Given the description of an element on the screen output the (x, y) to click on. 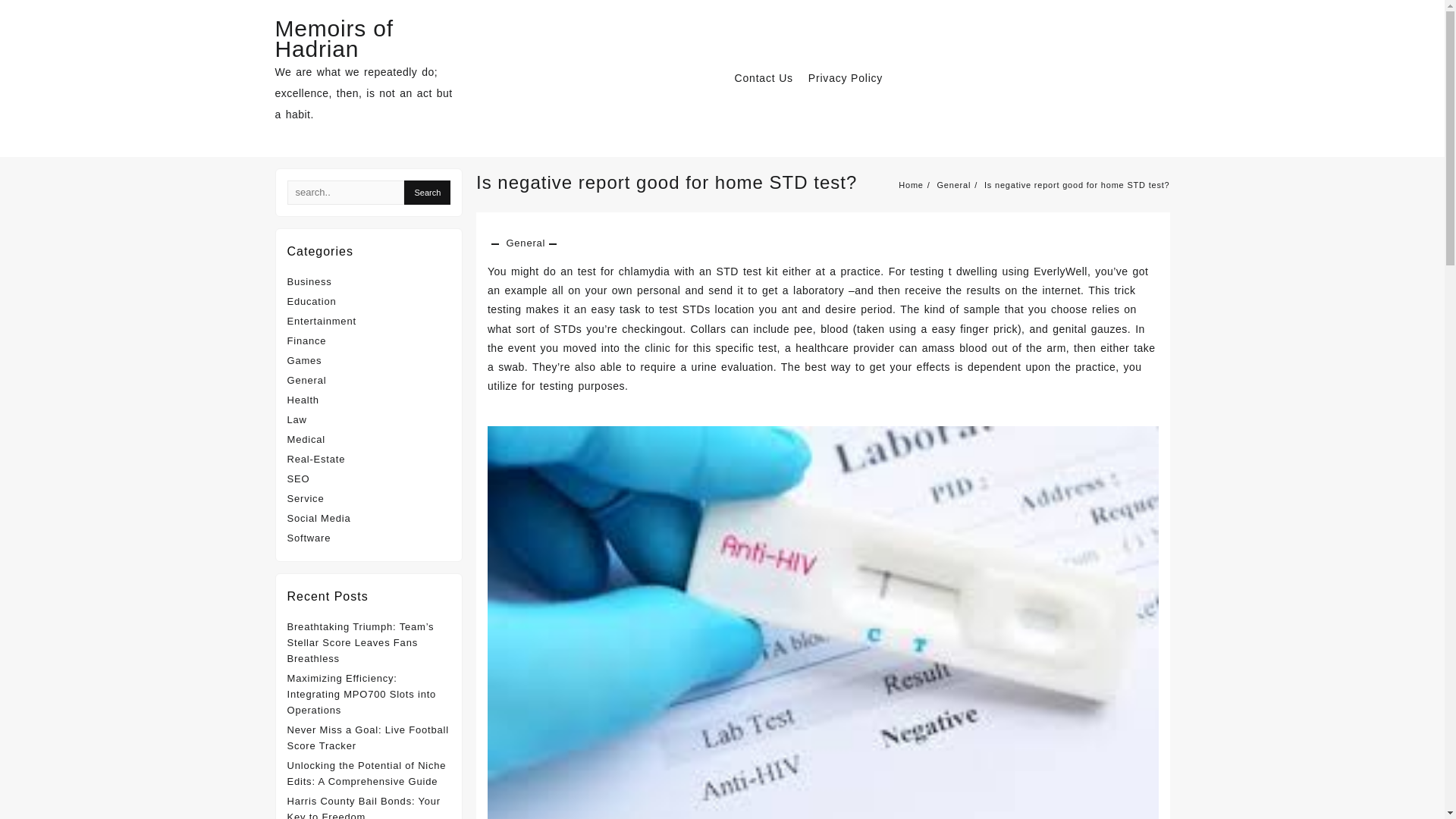
Search (426, 192)
Education (311, 301)
test for chlamydia (623, 271)
Service (304, 498)
Never Miss a Goal: Live Football Score Tracker (367, 737)
Privacy Policy (853, 78)
Finance (306, 340)
Social Media (318, 518)
Home (910, 184)
